Given the description of an element on the screen output the (x, y) to click on. 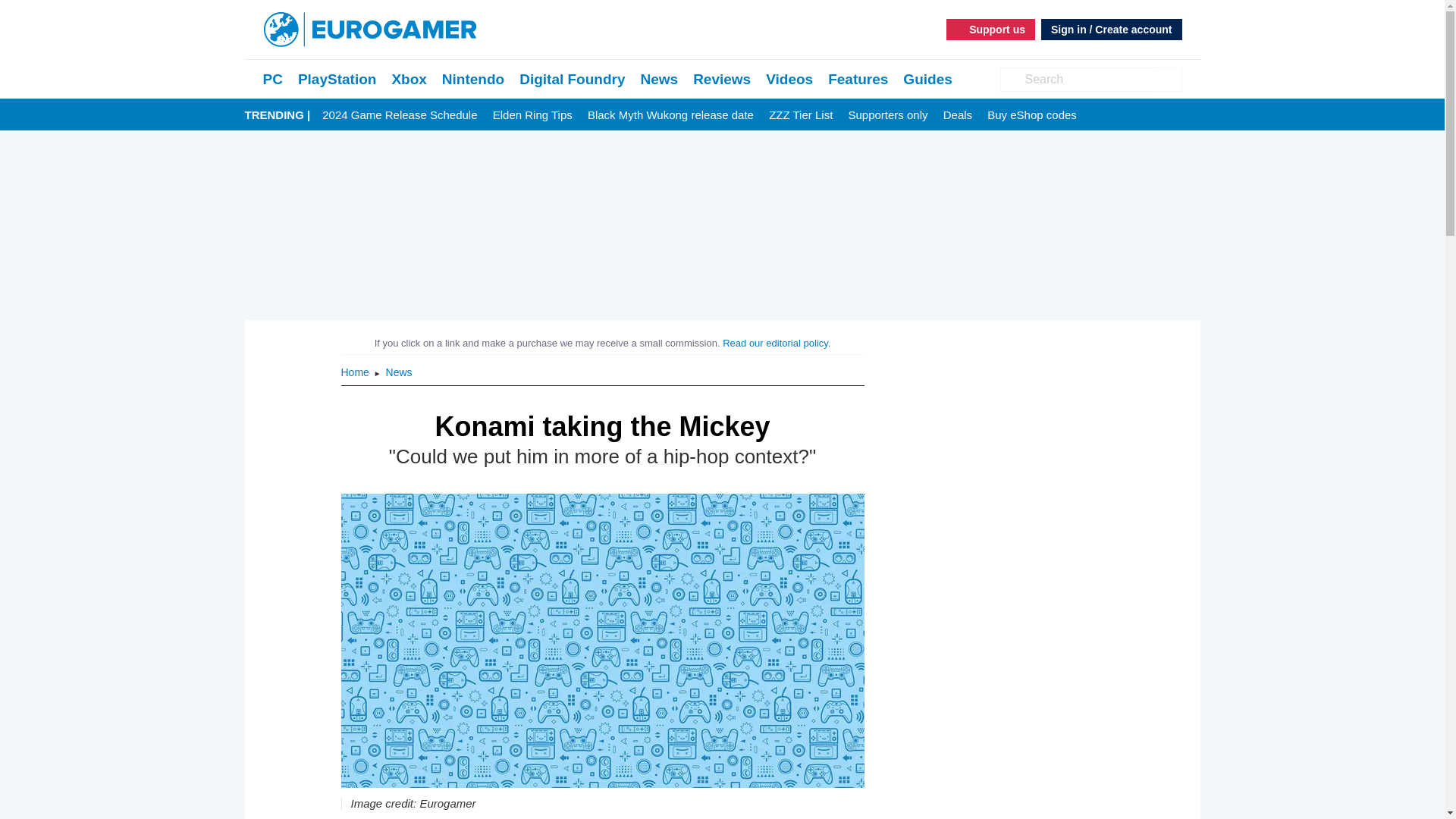
Reviews (722, 78)
Digital Foundry (571, 78)
News (398, 372)
Videos (788, 78)
Nintendo (472, 78)
ZZZ Tier List (800, 114)
Deals (957, 114)
Reviews (722, 78)
Read our editorial policy (775, 342)
News (659, 78)
